Given the description of an element on the screen output the (x, y) to click on. 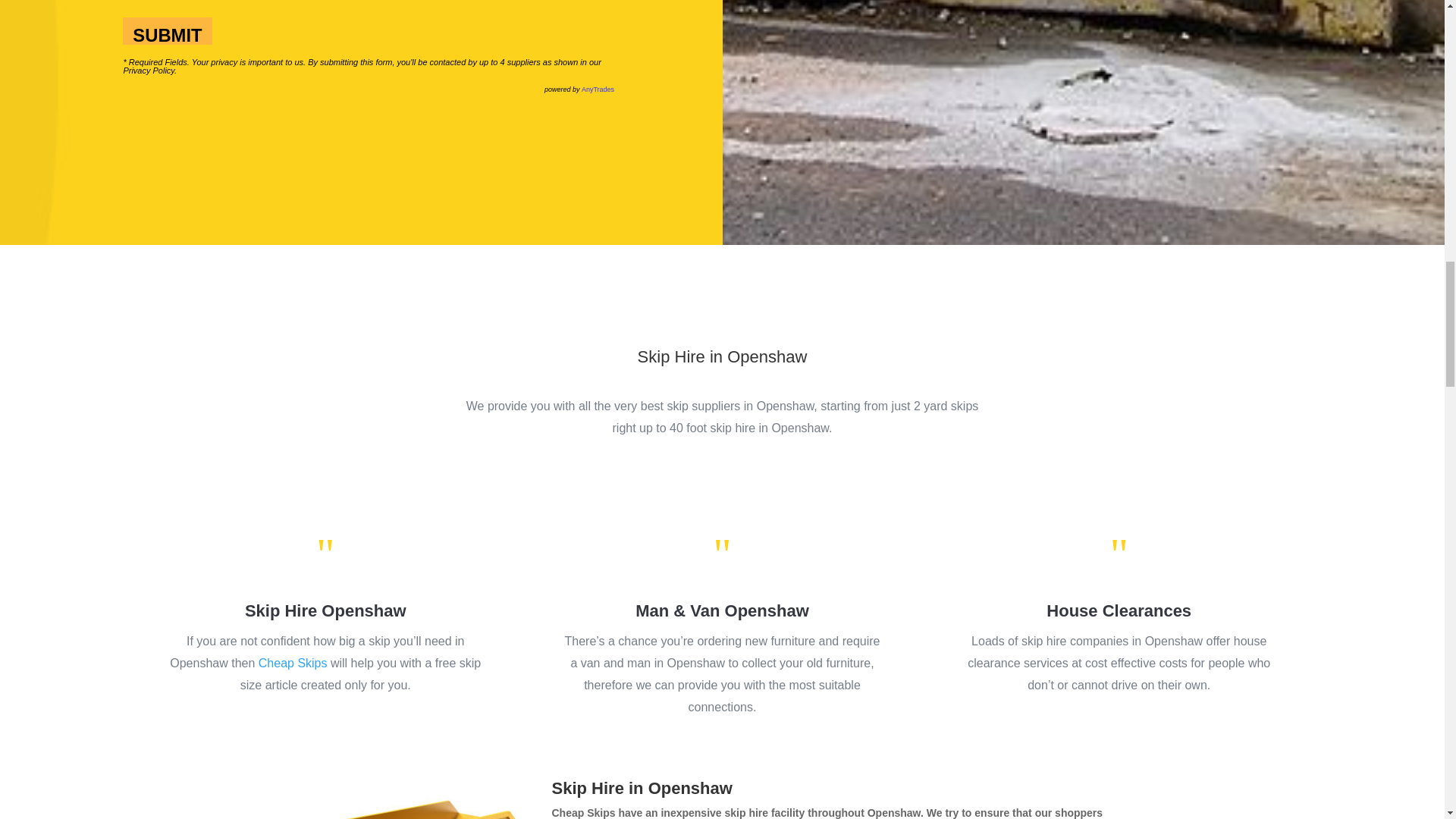
Cheap Skips (293, 662)
submit (166, 31)
submit (166, 31)
Privacy Policy (148, 70)
powered by AnyTrades (579, 89)
Cheap Skips in Openshaw (426, 799)
